Given the description of an element on the screen output the (x, y) to click on. 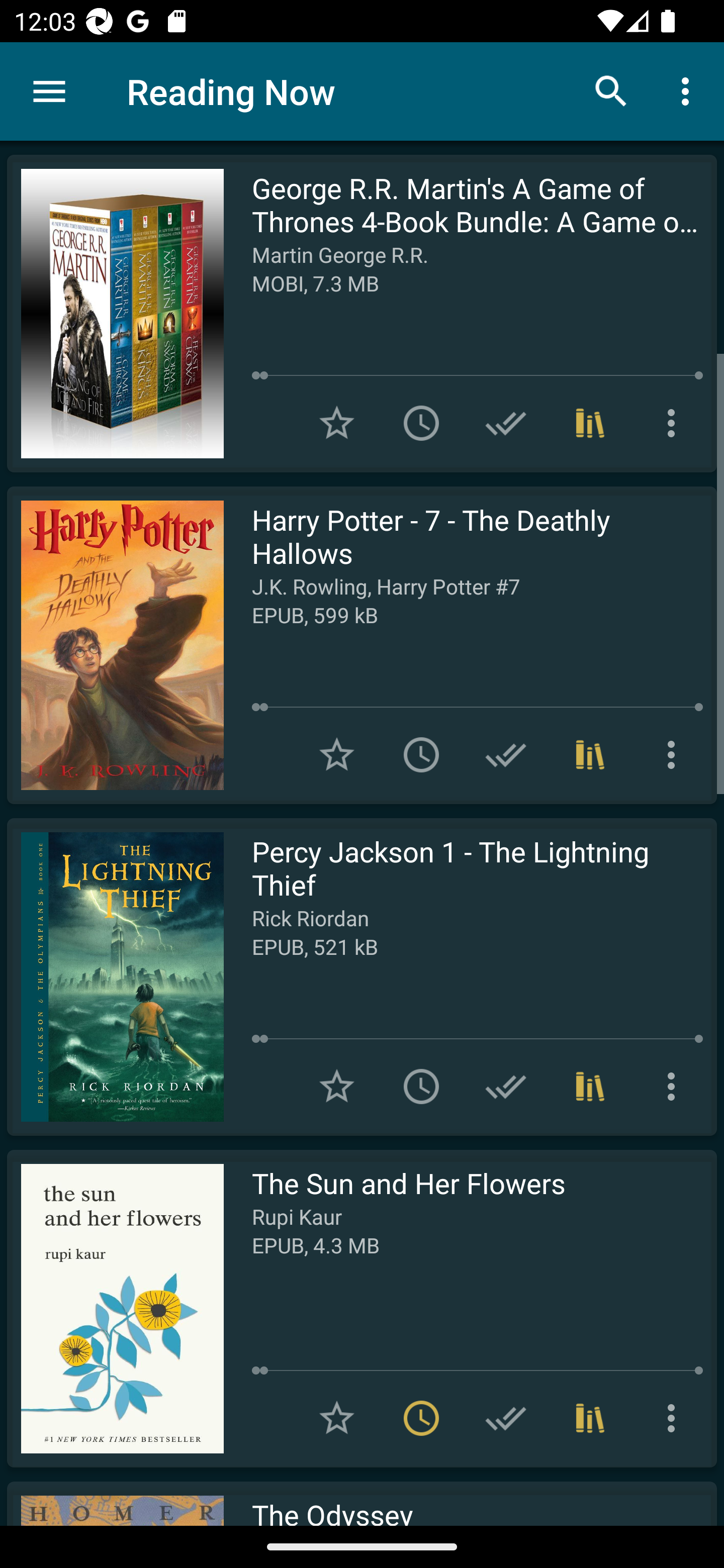
Menu (49, 91)
Search books & documents (611, 90)
More options (688, 90)
Add to Favorites (336, 423)
Add to To read (421, 423)
Add to Have read (505, 423)
Collections (1) (590, 423)
More options (674, 423)
Read Harry Potter - 7 - The Deathly Hallows (115, 645)
Add to Favorites (336, 753)
Add to To read (421, 753)
Add to Have read (505, 753)
Collections (1) (590, 753)
More options (674, 753)
Read Percy Jackson 1 - The Lightning Thief (115, 976)
Add to Favorites (336, 1086)
